Given the description of an element on the screen output the (x, y) to click on. 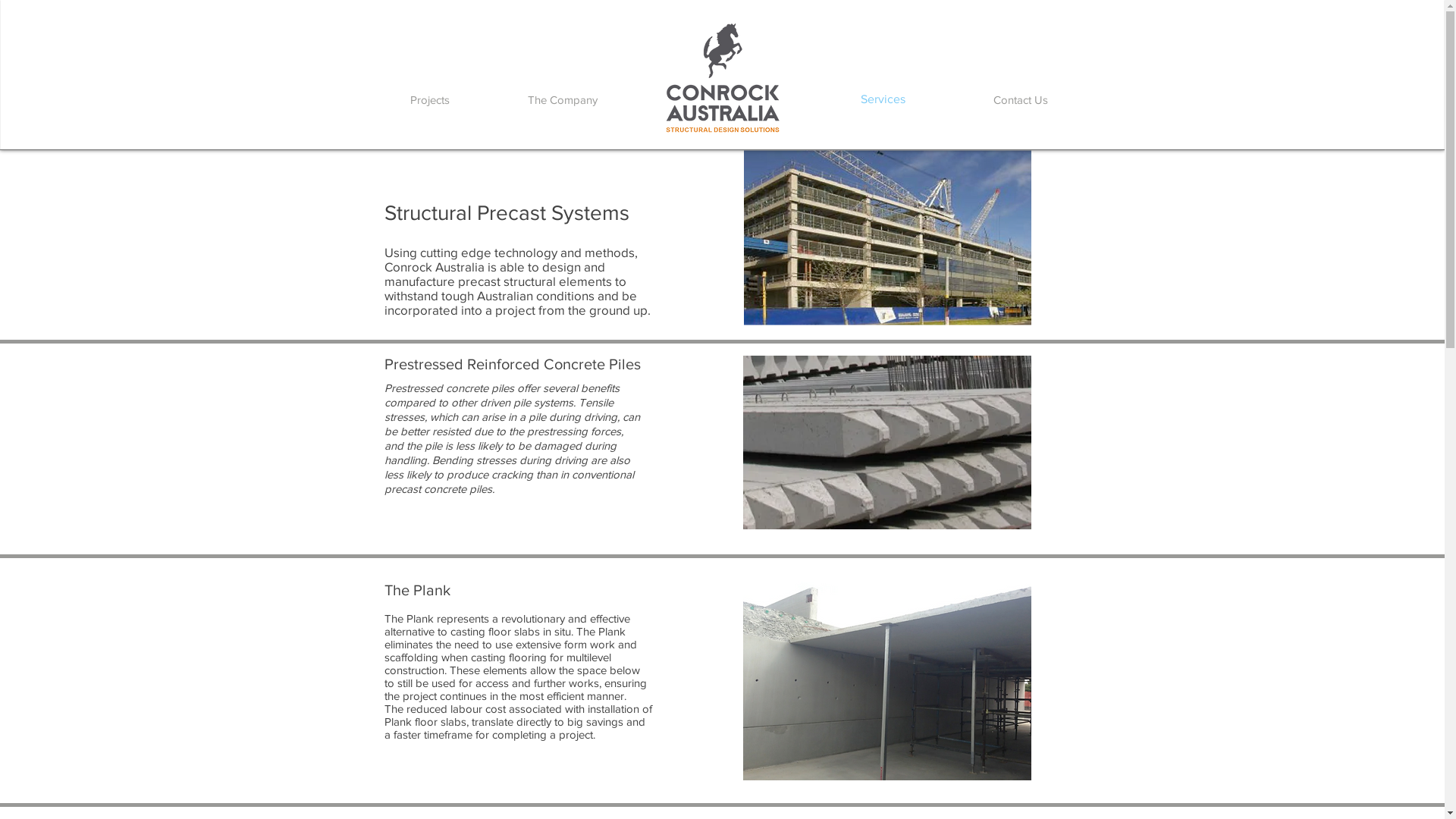
Contact Us Element type: text (1019, 99)
Projects Element type: text (429, 99)
The Company Element type: text (561, 99)
Services Element type: text (882, 99)
